Given the description of an element on the screen output the (x, y) to click on. 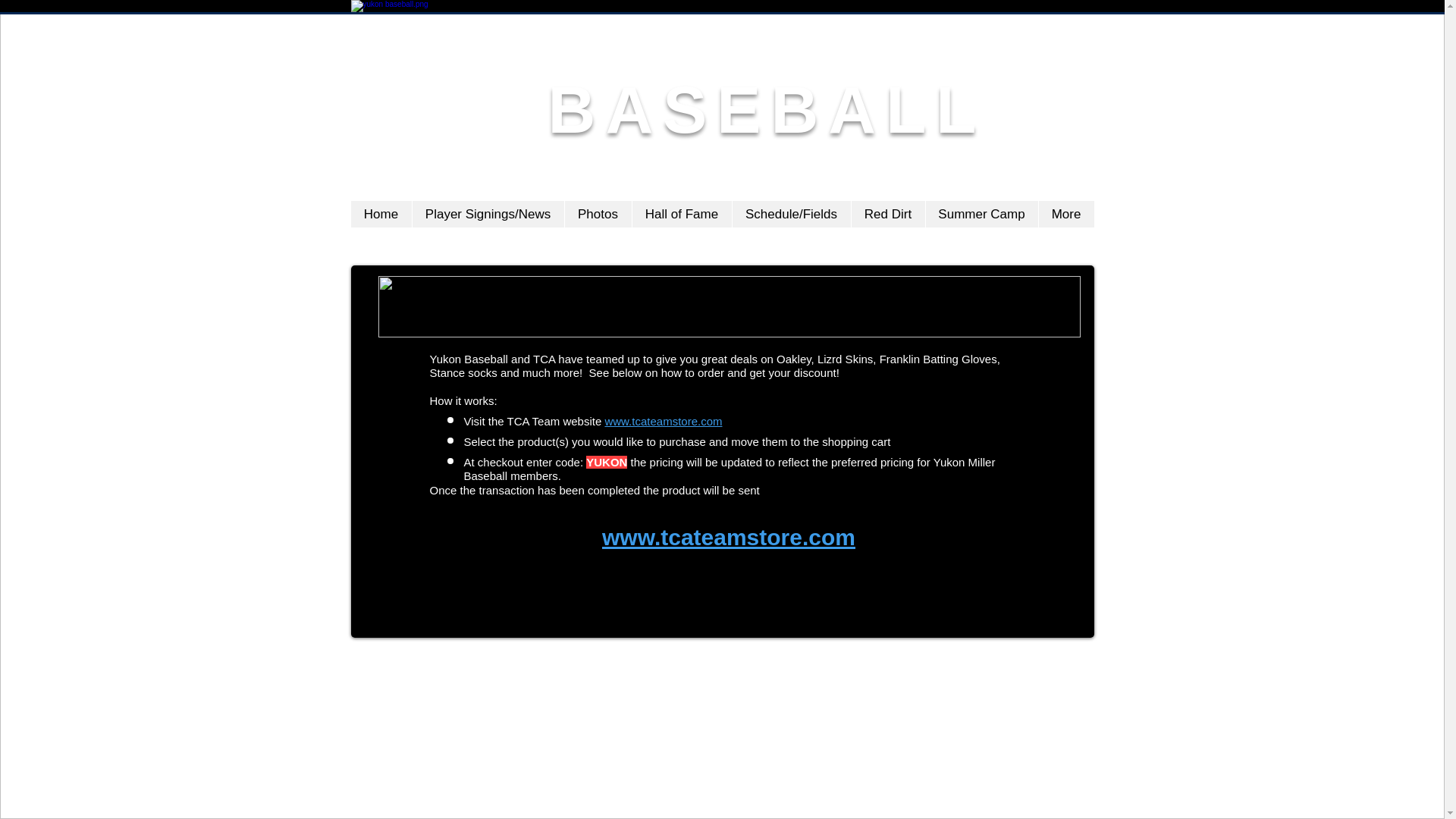
www.tcateamstore.com (663, 420)
TCA Team Store.JPG (728, 306)
Red Dirt (887, 213)
Summer Camp (981, 213)
www.tcateamstore.com (729, 536)
Home (380, 213)
BASEBALL (766, 109)
